Given the description of an element on the screen output the (x, y) to click on. 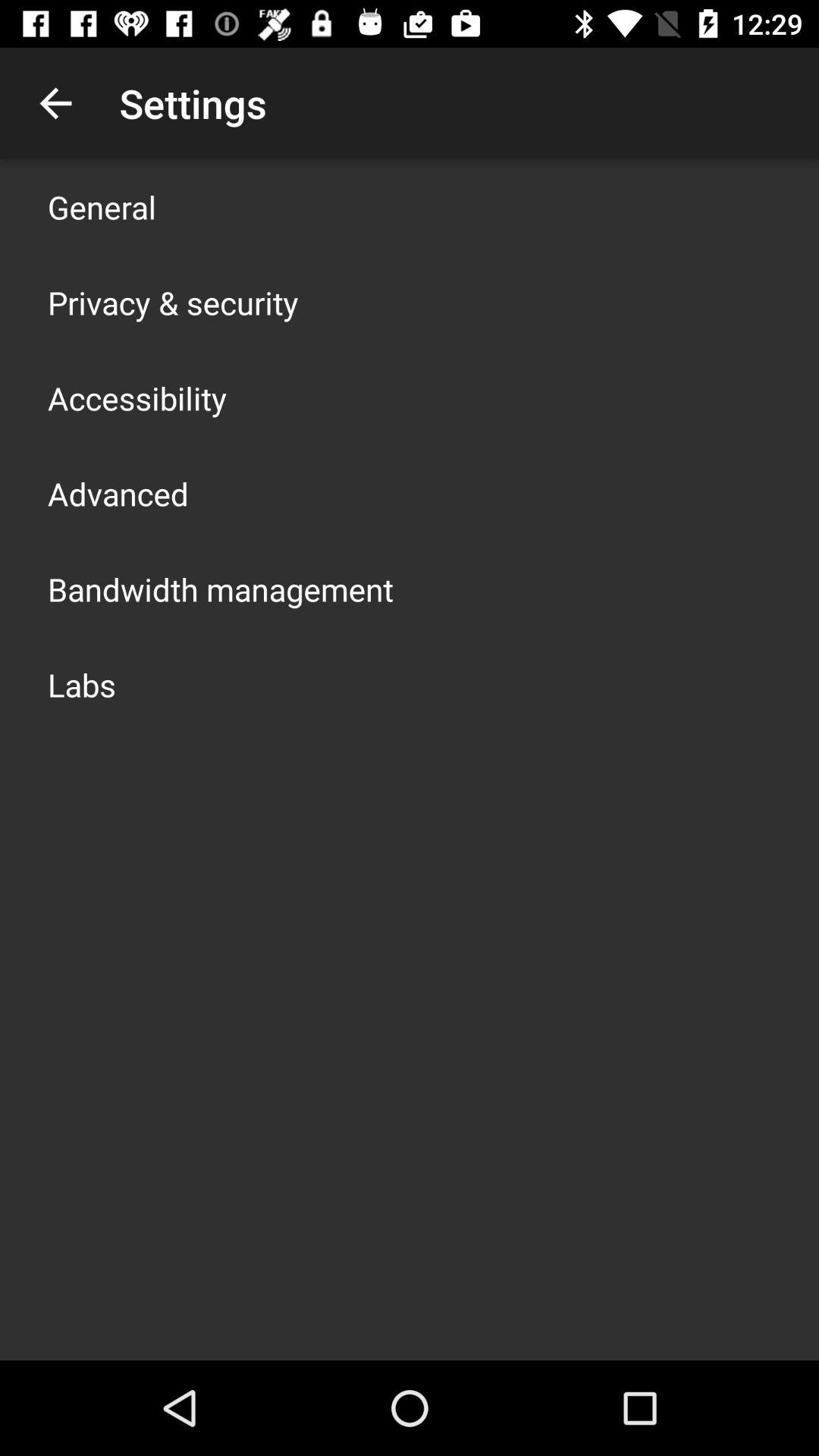
jump to accessibility (136, 397)
